Given the description of an element on the screen output the (x, y) to click on. 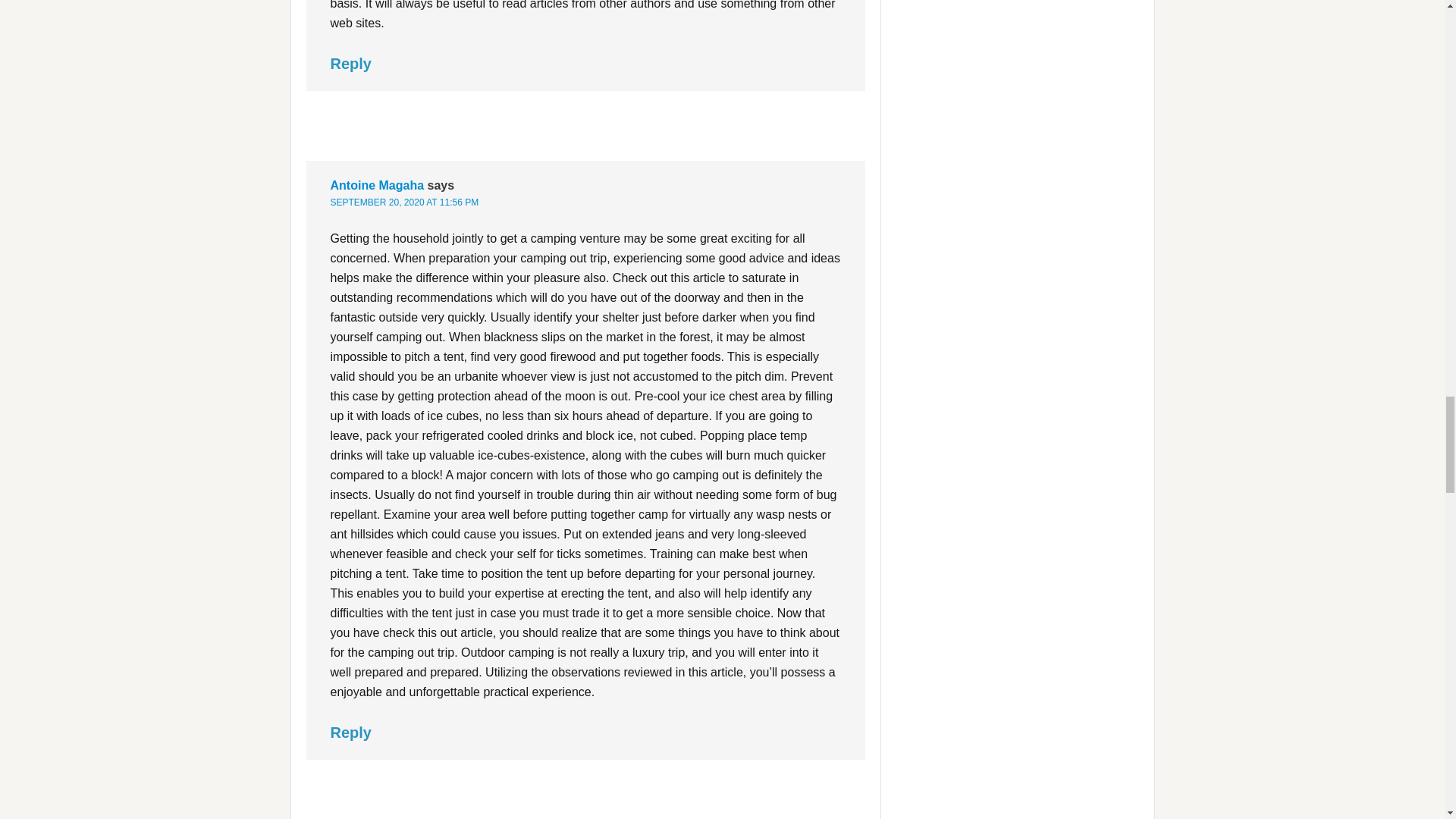
SEPTEMBER 20, 2020 AT 11:56 PM (404, 202)
Reply (350, 732)
Reply (350, 63)
Antoine Magaha (377, 185)
